Given the description of an element on the screen output the (x, y) to click on. 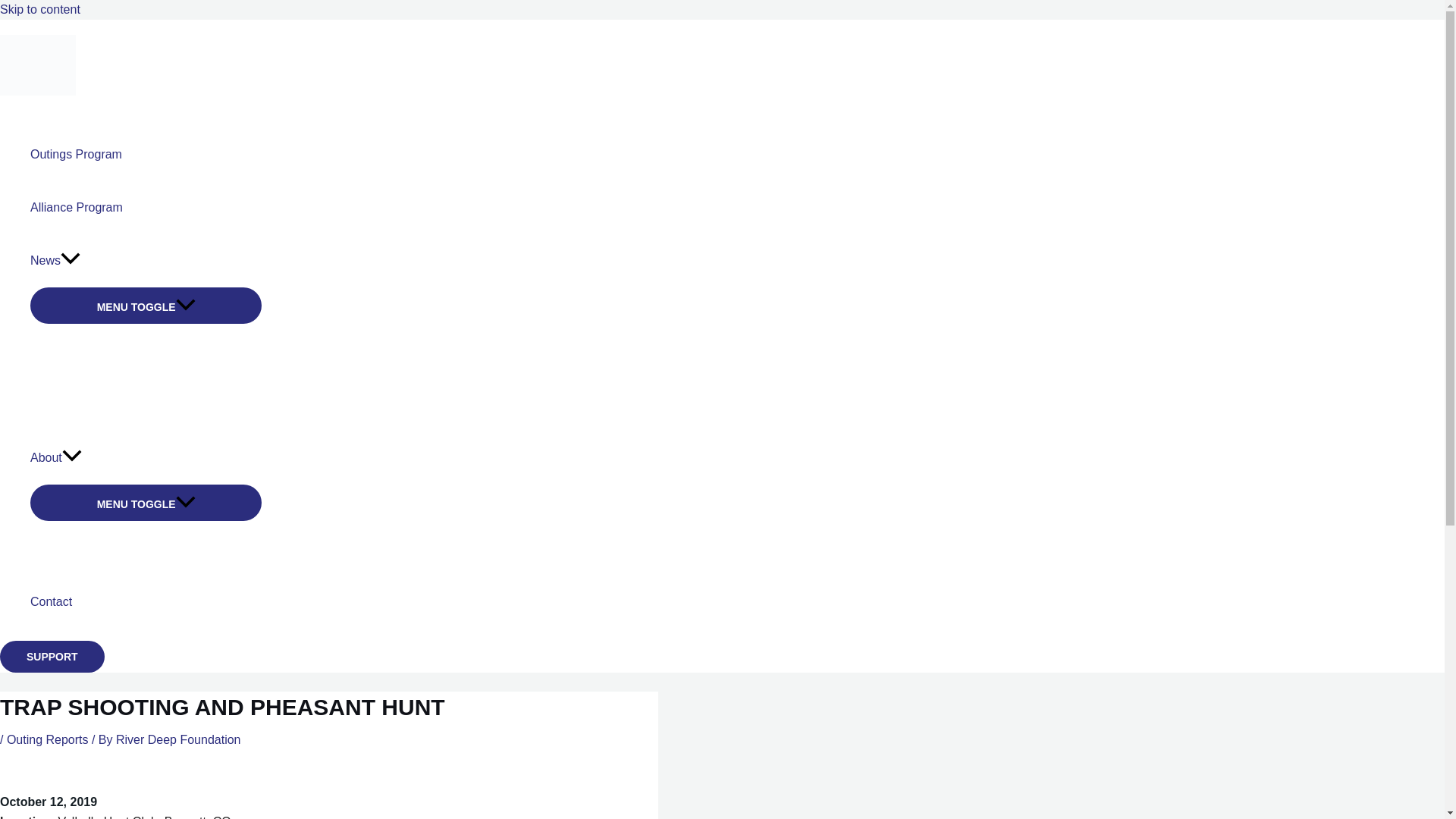
MENU TOGGLE (146, 305)
Outings Program (146, 153)
About (146, 457)
Outing Reports (47, 739)
Alliance Program (146, 207)
MENU TOGGLE (146, 502)
Contact (146, 601)
News (146, 260)
River Deep Foundation (178, 739)
View all posts by River Deep Foundation (178, 739)
